Given the description of an element on the screen output the (x, y) to click on. 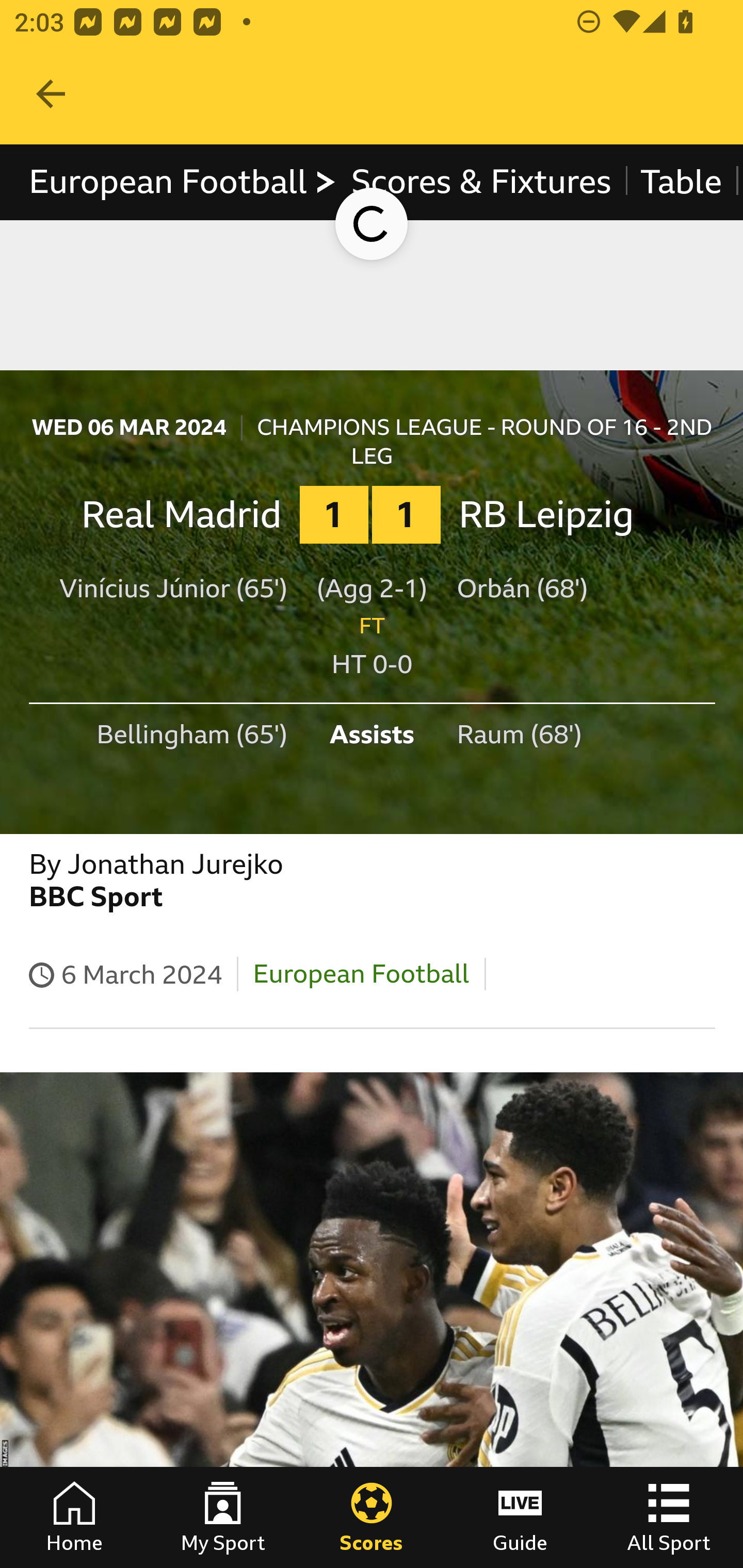
Navigate up (50, 93)
European Football  (182, 181)
Scores & Fixtures (480, 181)
Table (681, 181)
European Football (361, 972)
Home (74, 1517)
My Sport (222, 1517)
Guide (519, 1517)
All Sport (668, 1517)
